Given the description of an element on the screen output the (x, y) to click on. 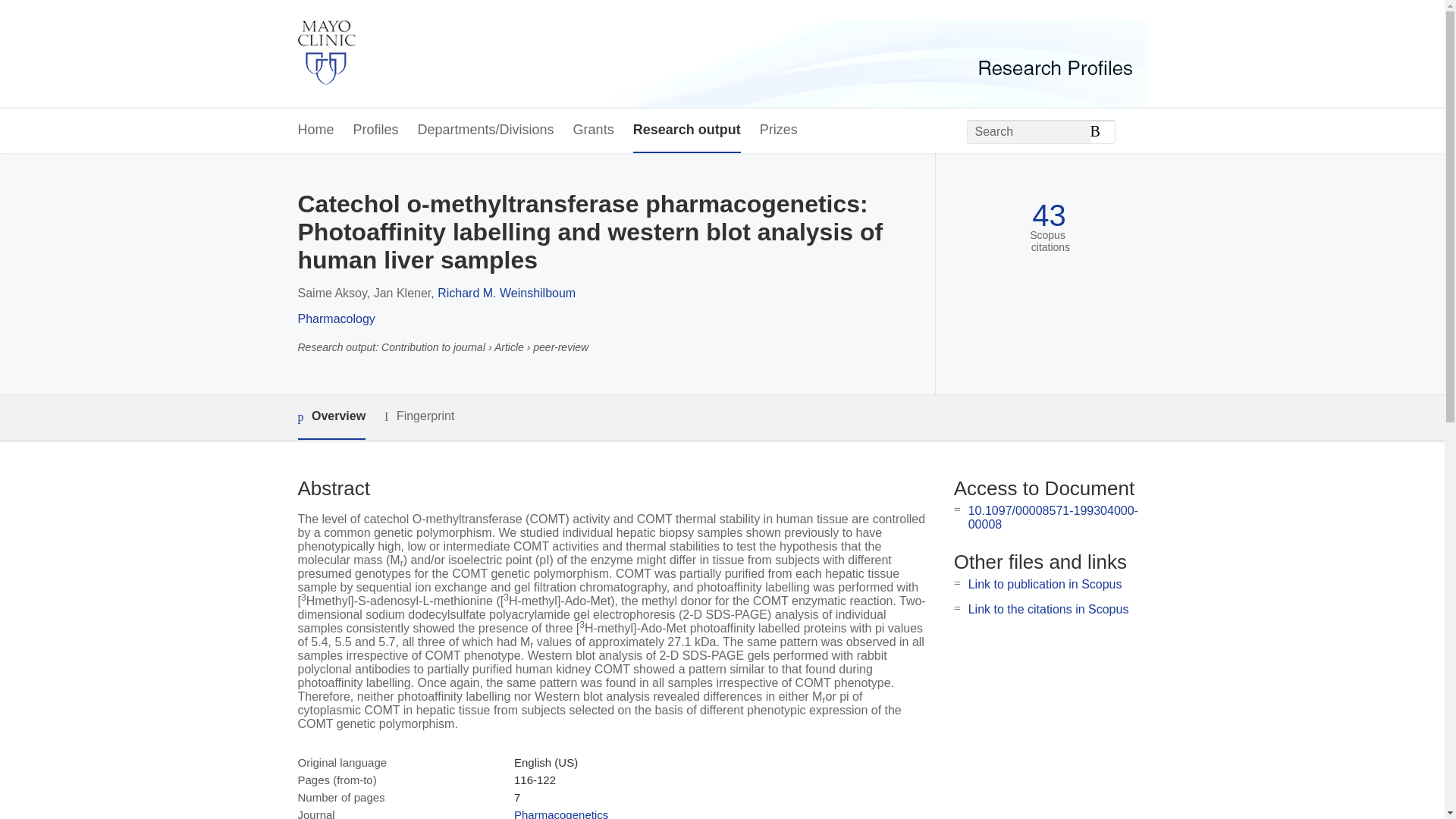
Mayo Clinic Home (326, 53)
Grants (593, 130)
43 (1048, 215)
Fingerprint (419, 416)
Link to the citations in Scopus (1048, 608)
Prizes (778, 130)
Link to publication in Scopus (1045, 584)
Profiles (375, 130)
Overview (331, 416)
Richard M. Weinshilboum (506, 292)
Pharmacology (335, 318)
Research output (687, 130)
Home (315, 130)
Pharmacogenetics (560, 813)
